Given the description of an element on the screen output the (x, y) to click on. 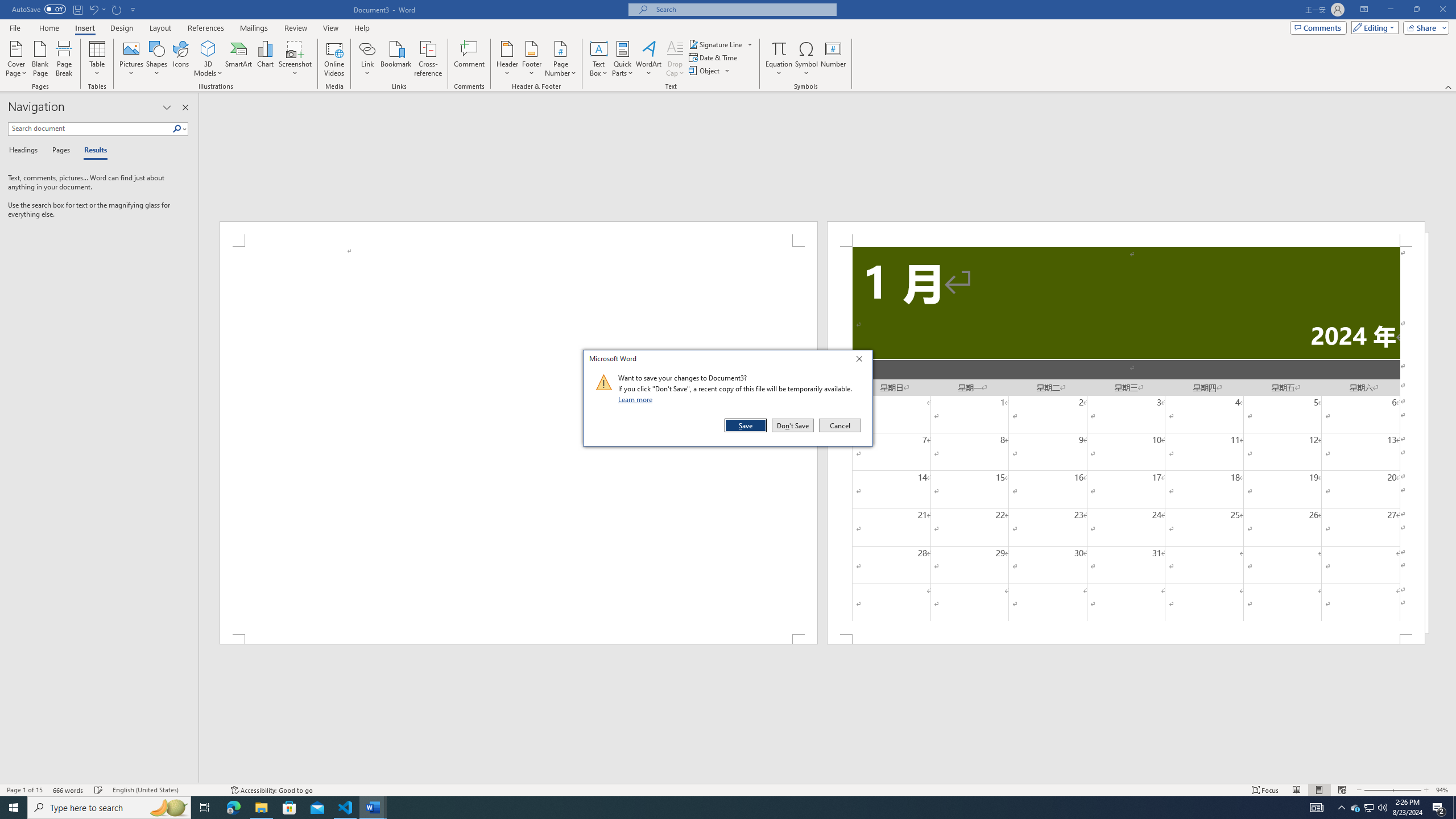
Bookmark... (396, 58)
Cross-reference... (428, 58)
WordArt (648, 58)
Comment (469, 58)
Equation (778, 58)
Undo New Page (96, 9)
